Given the description of an element on the screen output the (x, y) to click on. 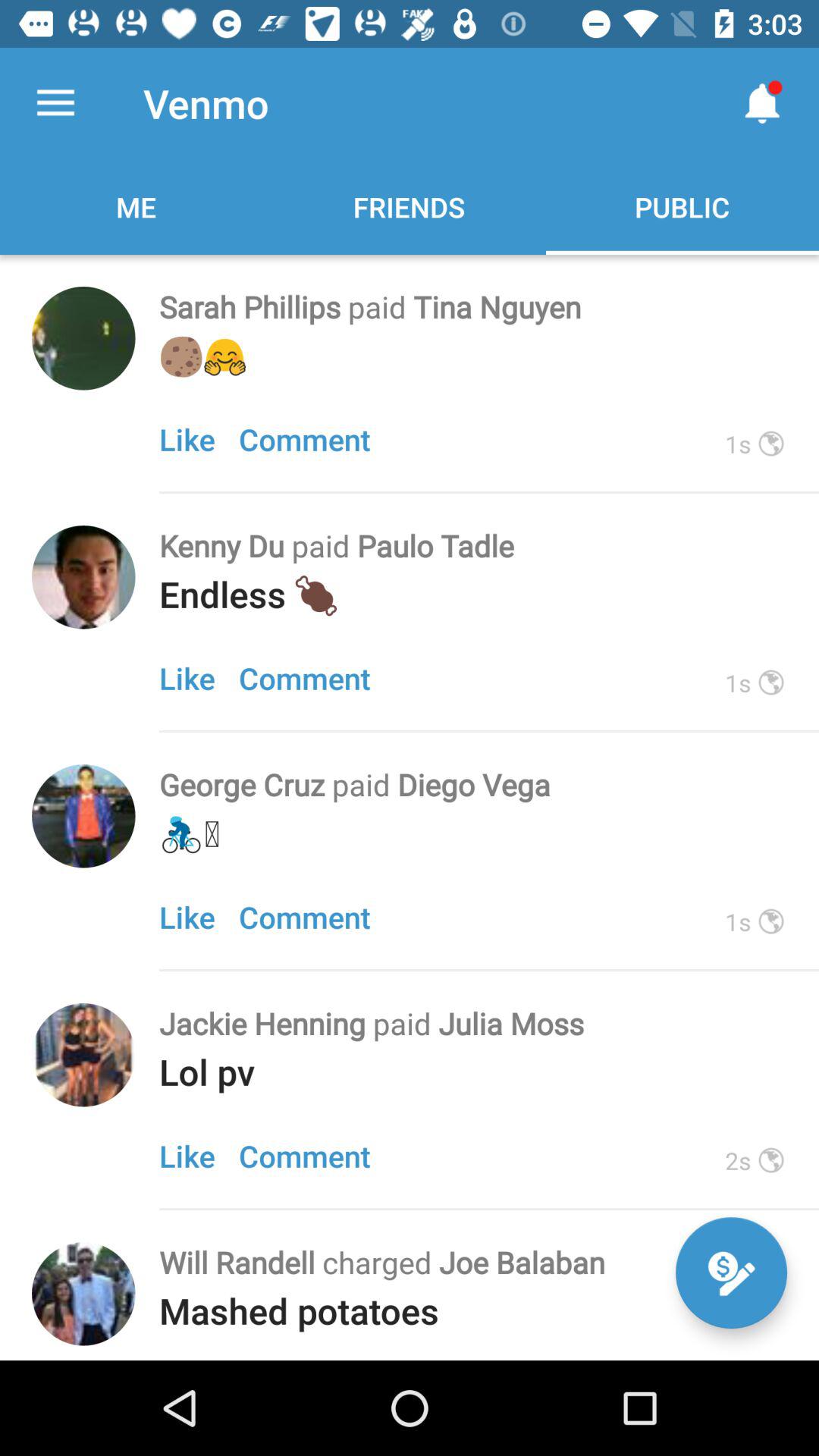
view user profile (83, 815)
